Given the description of an element on the screen output the (x, y) to click on. 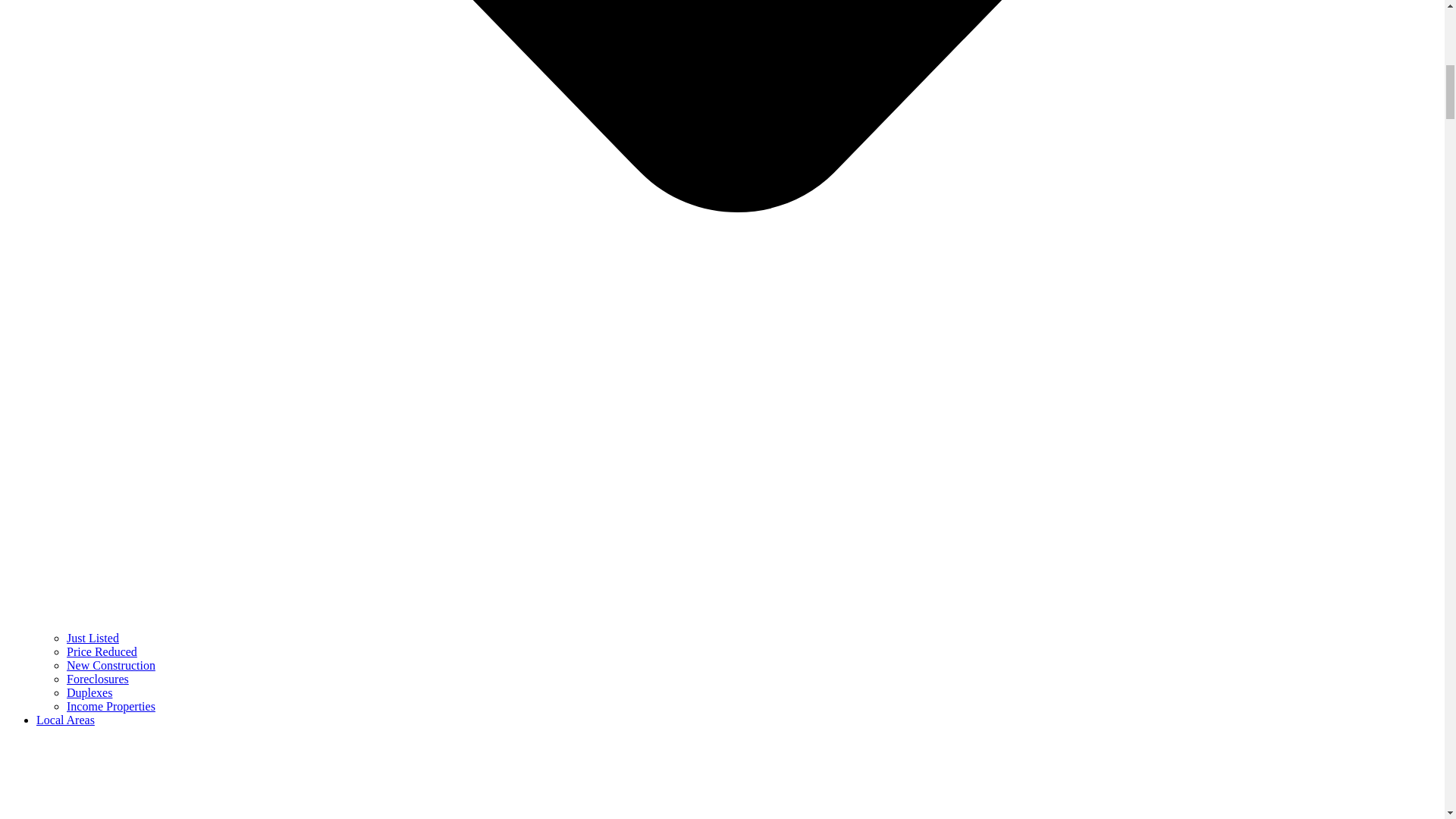
Price Reduced (101, 651)
Duplexes (89, 692)
Income Properties (110, 706)
Just Listed (92, 637)
New Construction (110, 665)
Foreclosures (97, 678)
